Given the description of an element on the screen output the (x, y) to click on. 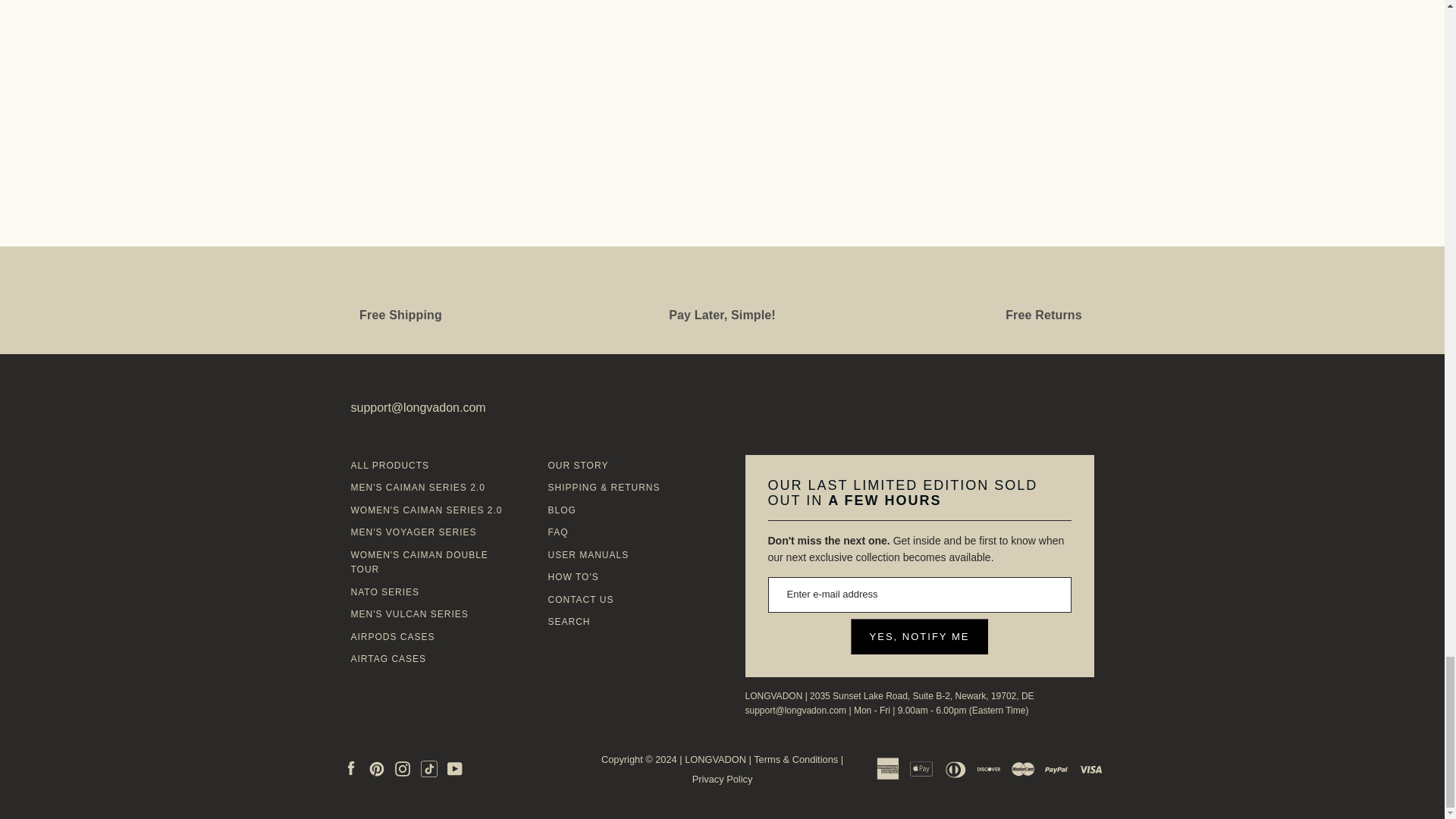
LONGVADON on Facebook (350, 768)
LONGVADON on Instagram (402, 768)
LONGVADON on TikTok (429, 768)
LONGVADON on Pinterest (376, 768)
